Given the description of an element on the screen output the (x, y) to click on. 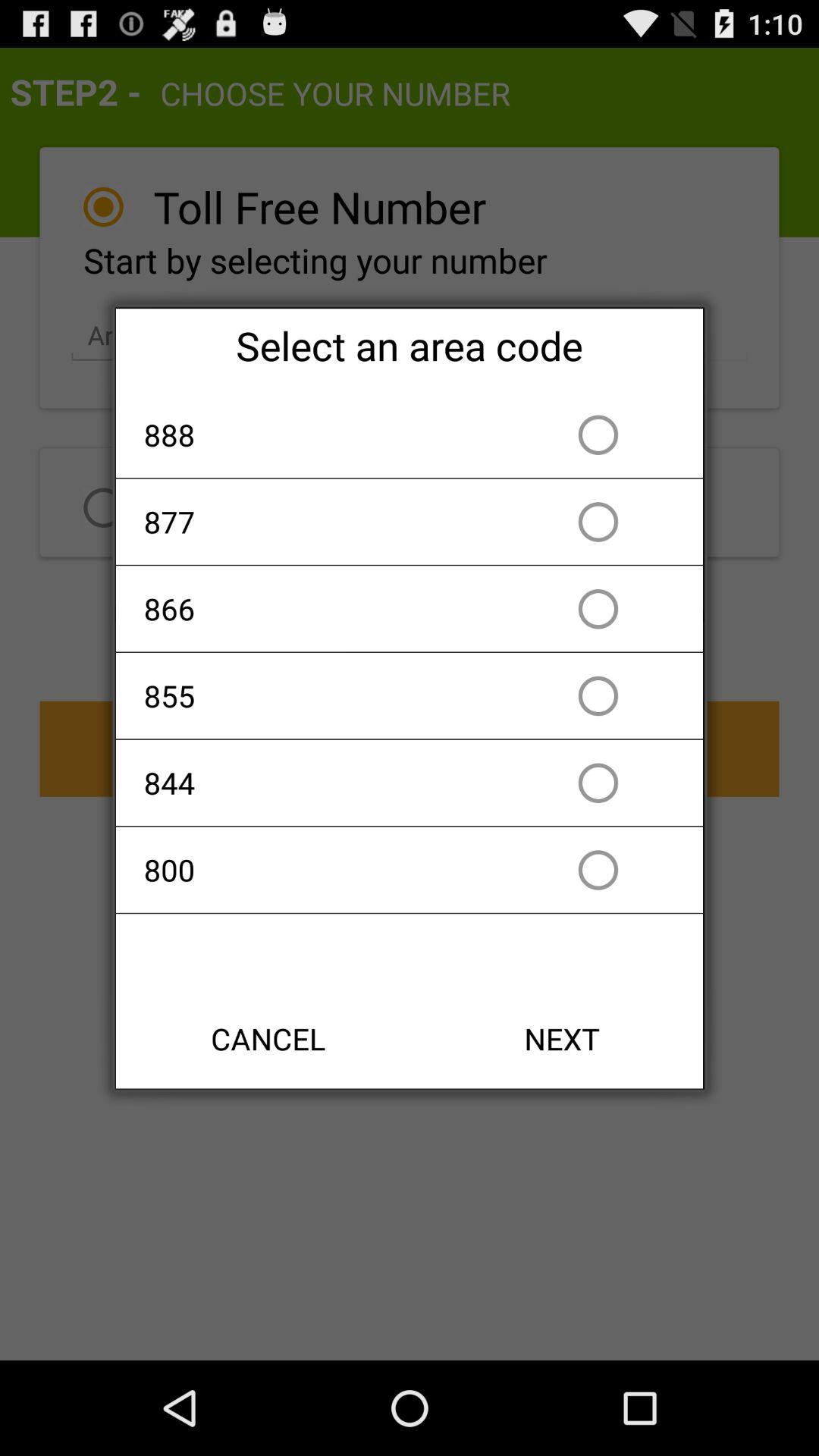
open the 844 app (322, 782)
